Given the description of an element on the screen output the (x, y) to click on. 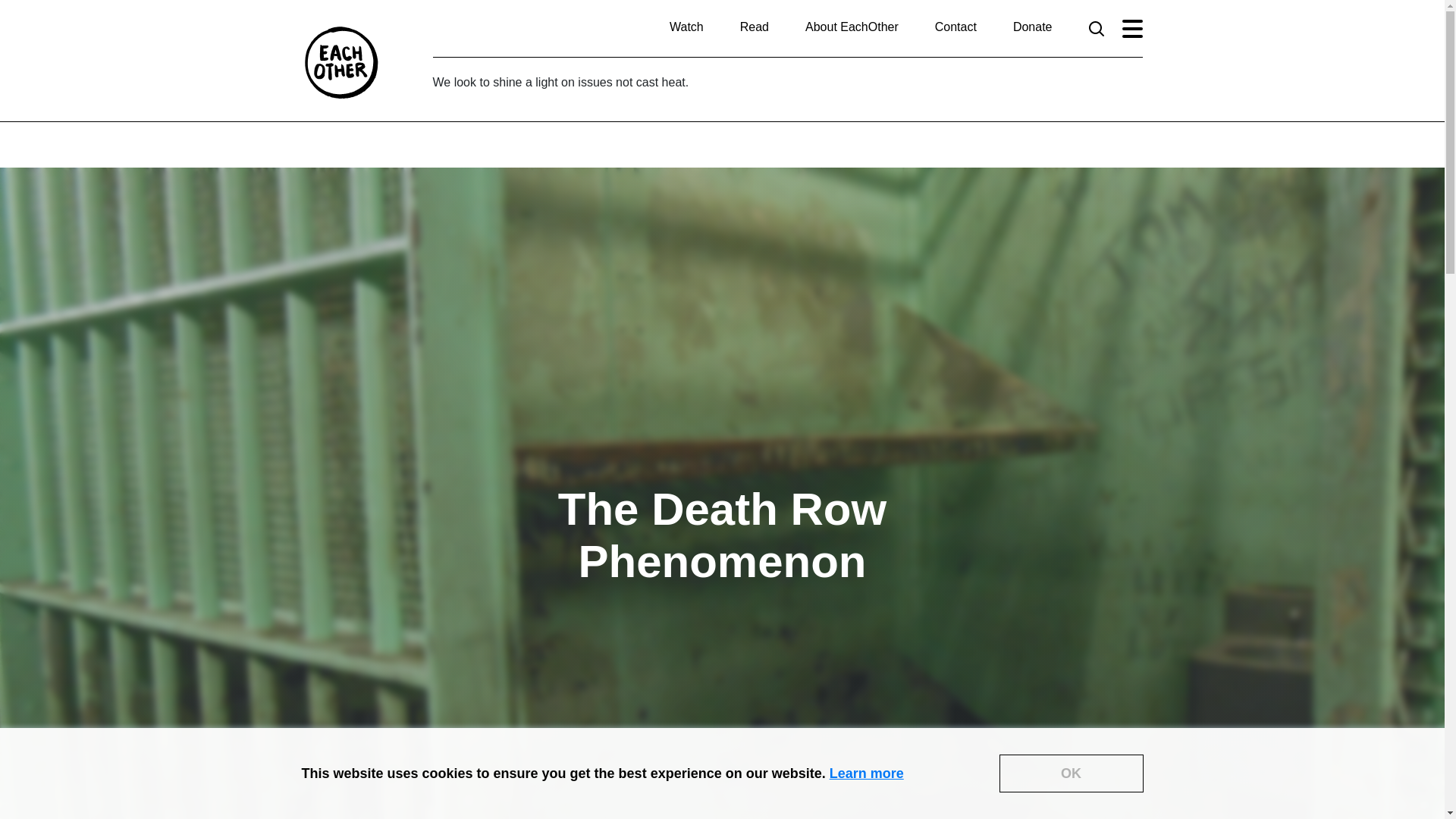
About EachOther (851, 27)
Contact (955, 27)
Watch (686, 27)
Read (753, 27)
Donate (1032, 27)
